Given the description of an element on the screen output the (x, y) to click on. 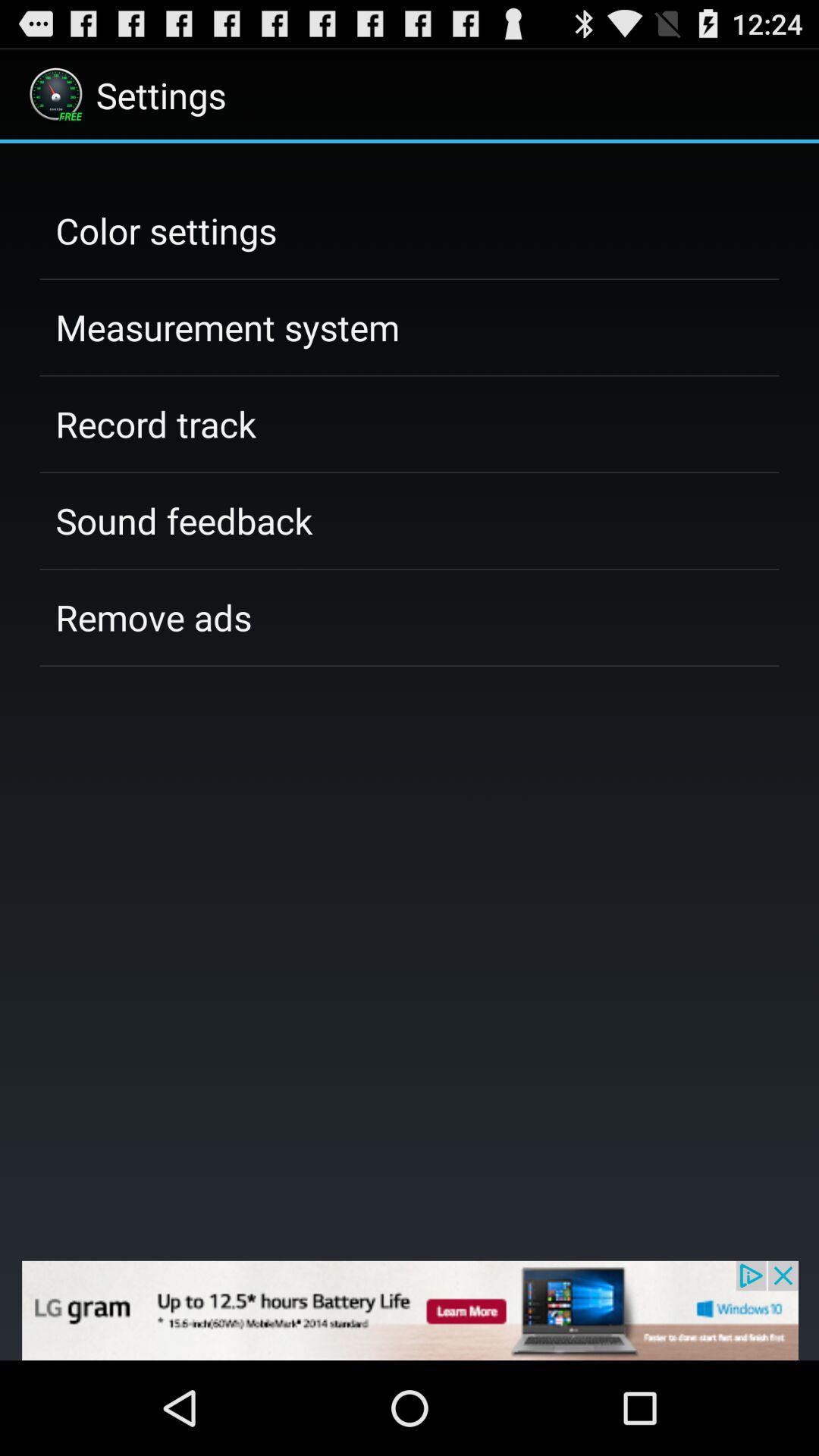
advertisement (409, 1310)
